Given the description of an element on the screen output the (x, y) to click on. 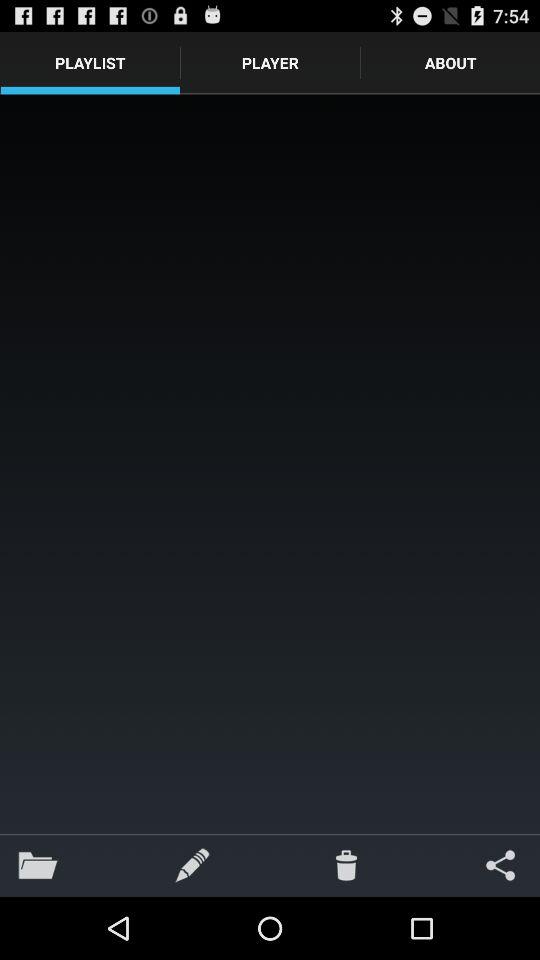
launch the icon at the center (270, 463)
